Given the description of an element on the screen output the (x, y) to click on. 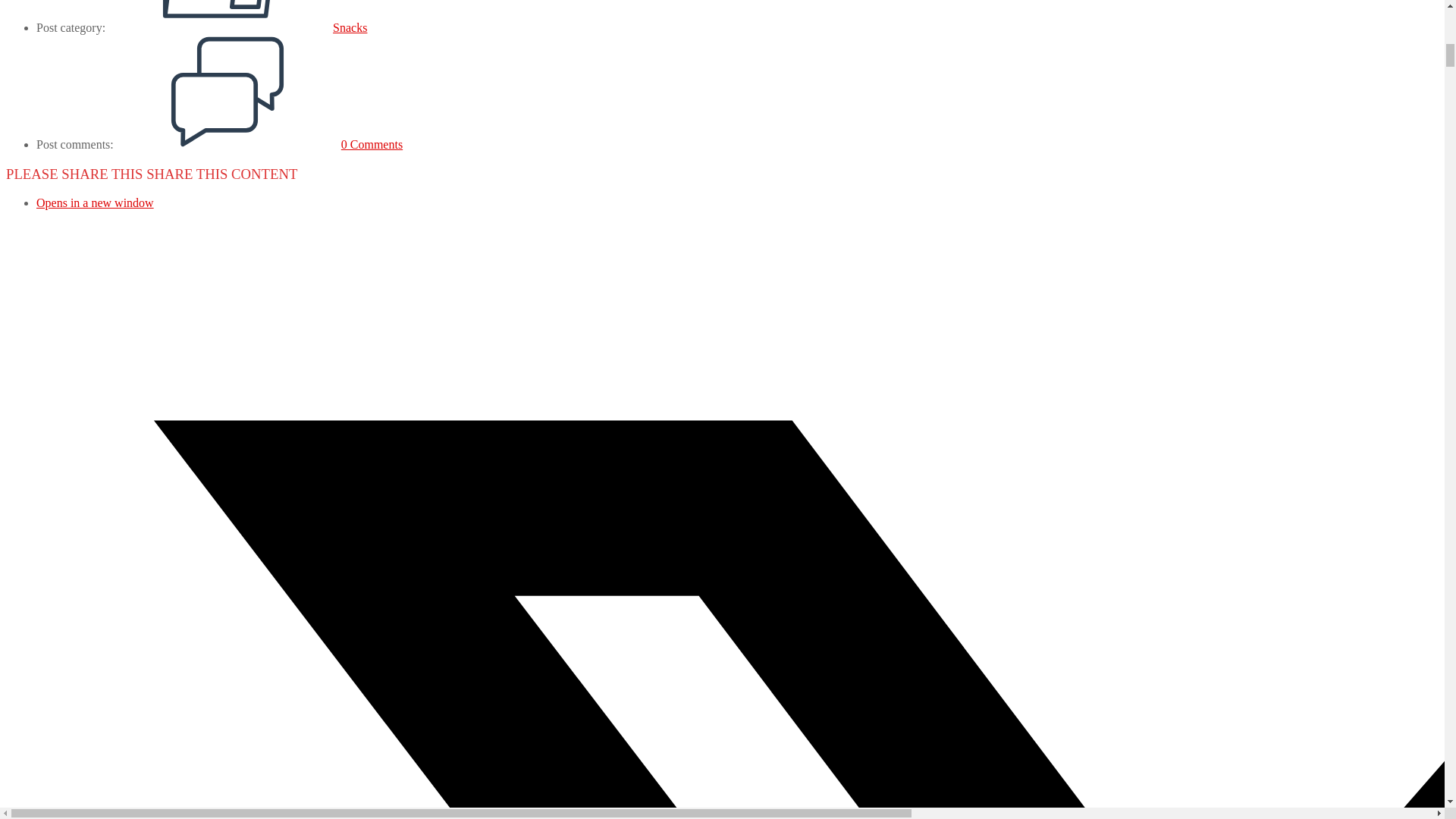
Snacks (349, 27)
